Given the description of an element on the screen output the (x, y) to click on. 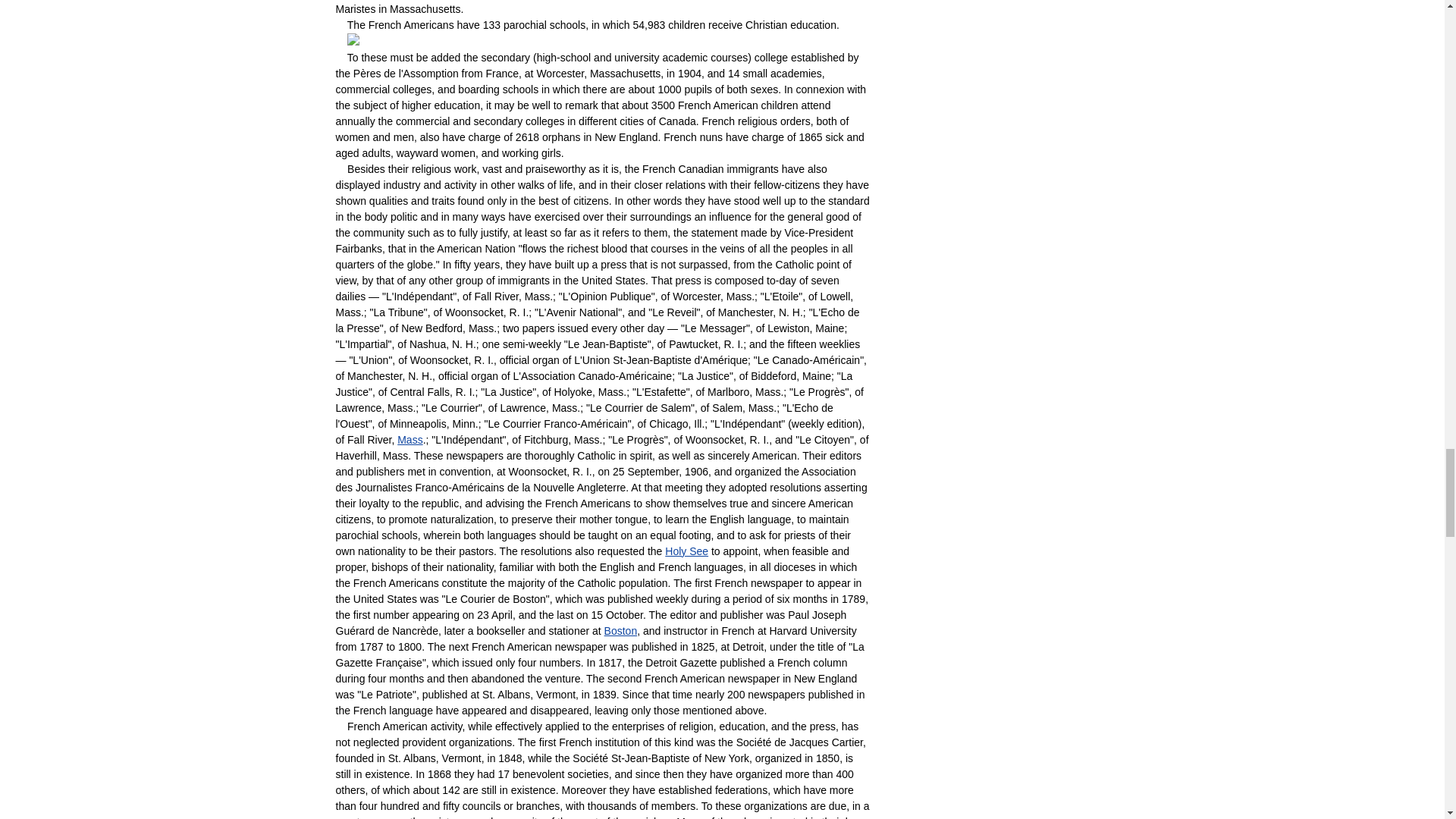
Mass (409, 439)
Holy See (686, 551)
Boston (620, 630)
